Given the description of an element on the screen output the (x, y) to click on. 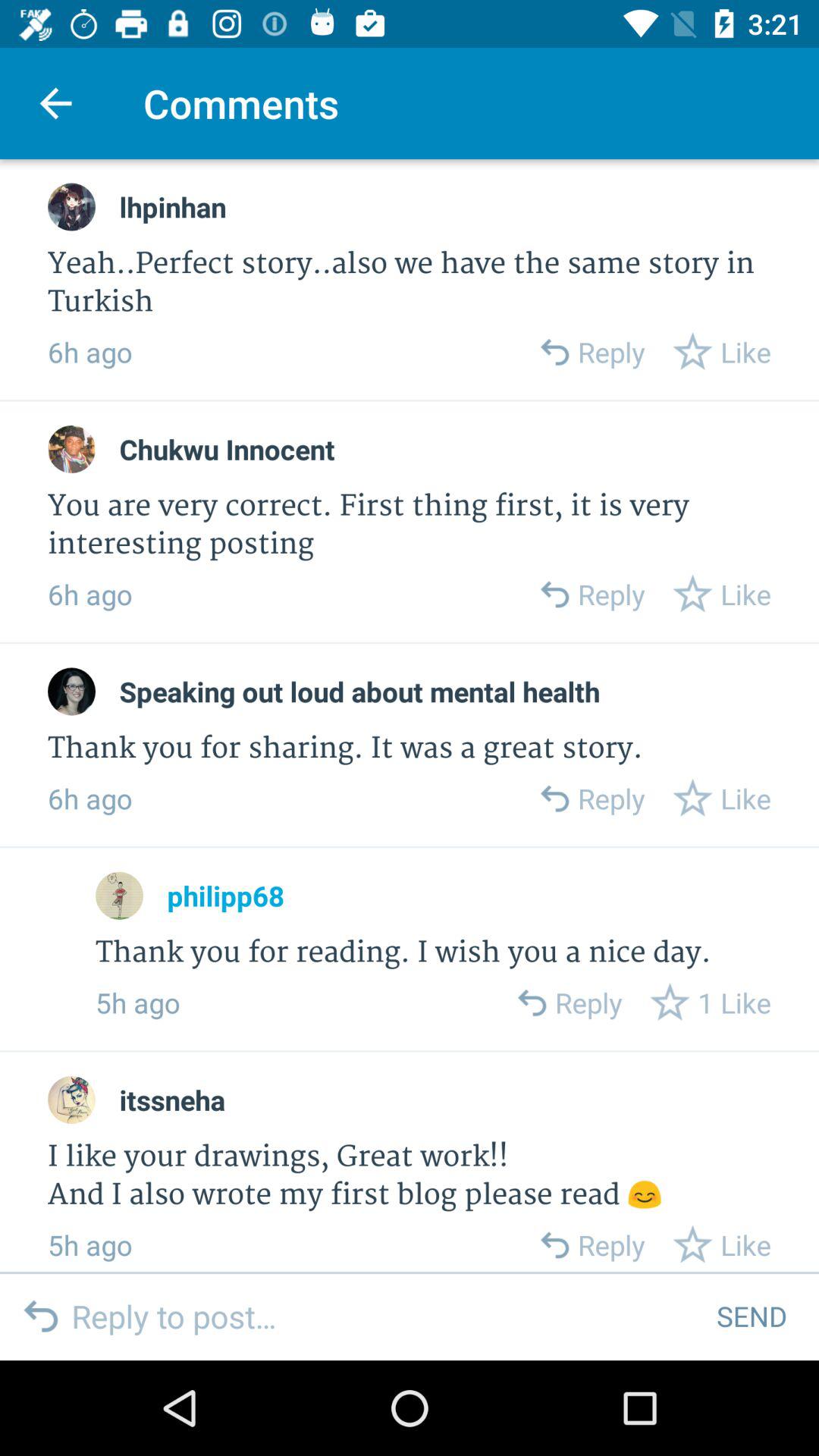
go to profile picture (71, 691)
